Given the description of an element on the screen output the (x, y) to click on. 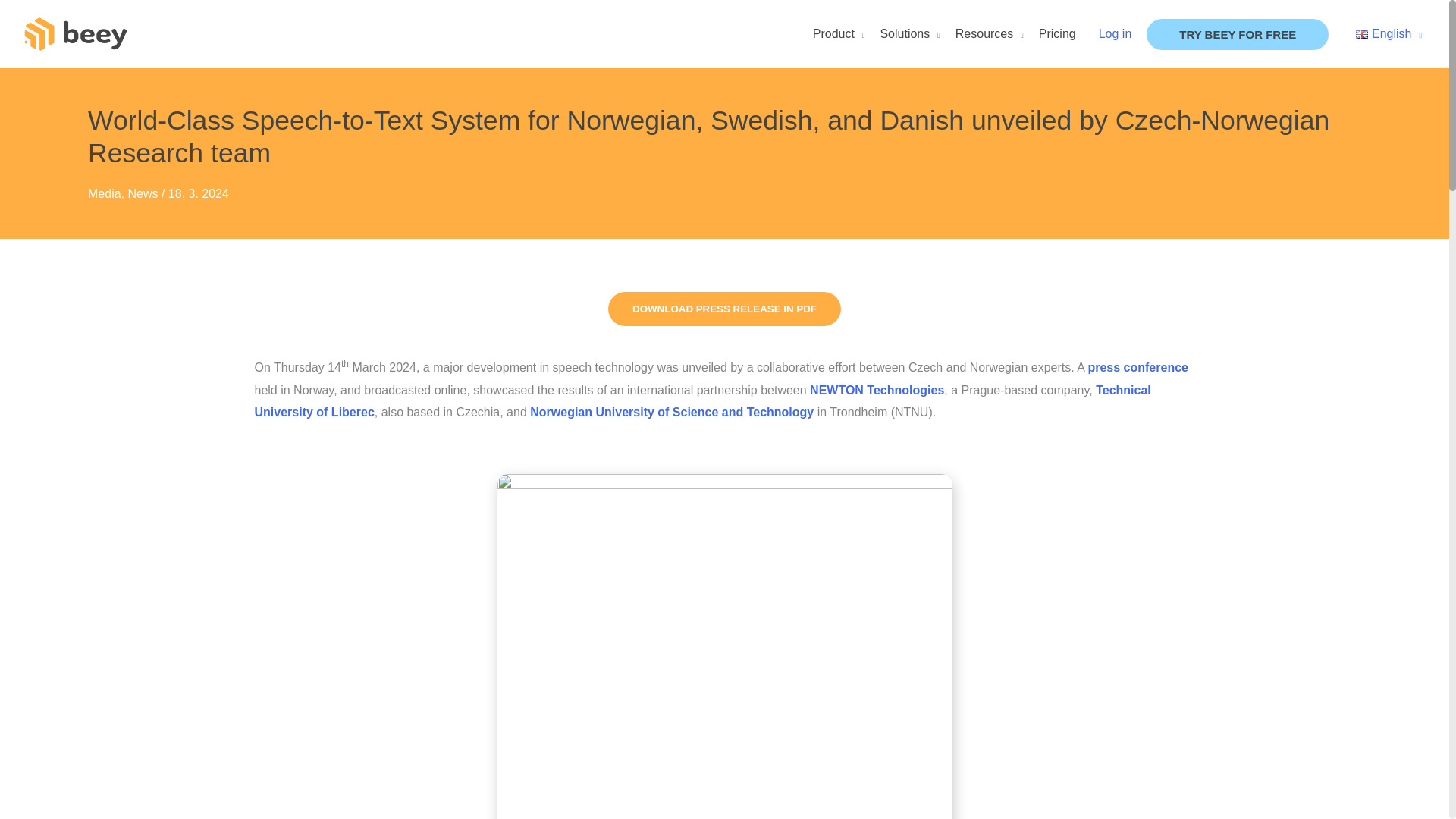
Product (838, 33)
Resources (988, 33)
TRY BEEY FOR FREE (1237, 33)
Log in to Beey (1115, 33)
Pricing (1056, 33)
Solutions (909, 33)
English (1388, 33)
Log in (1115, 33)
